Given the description of an element on the screen output the (x, y) to click on. 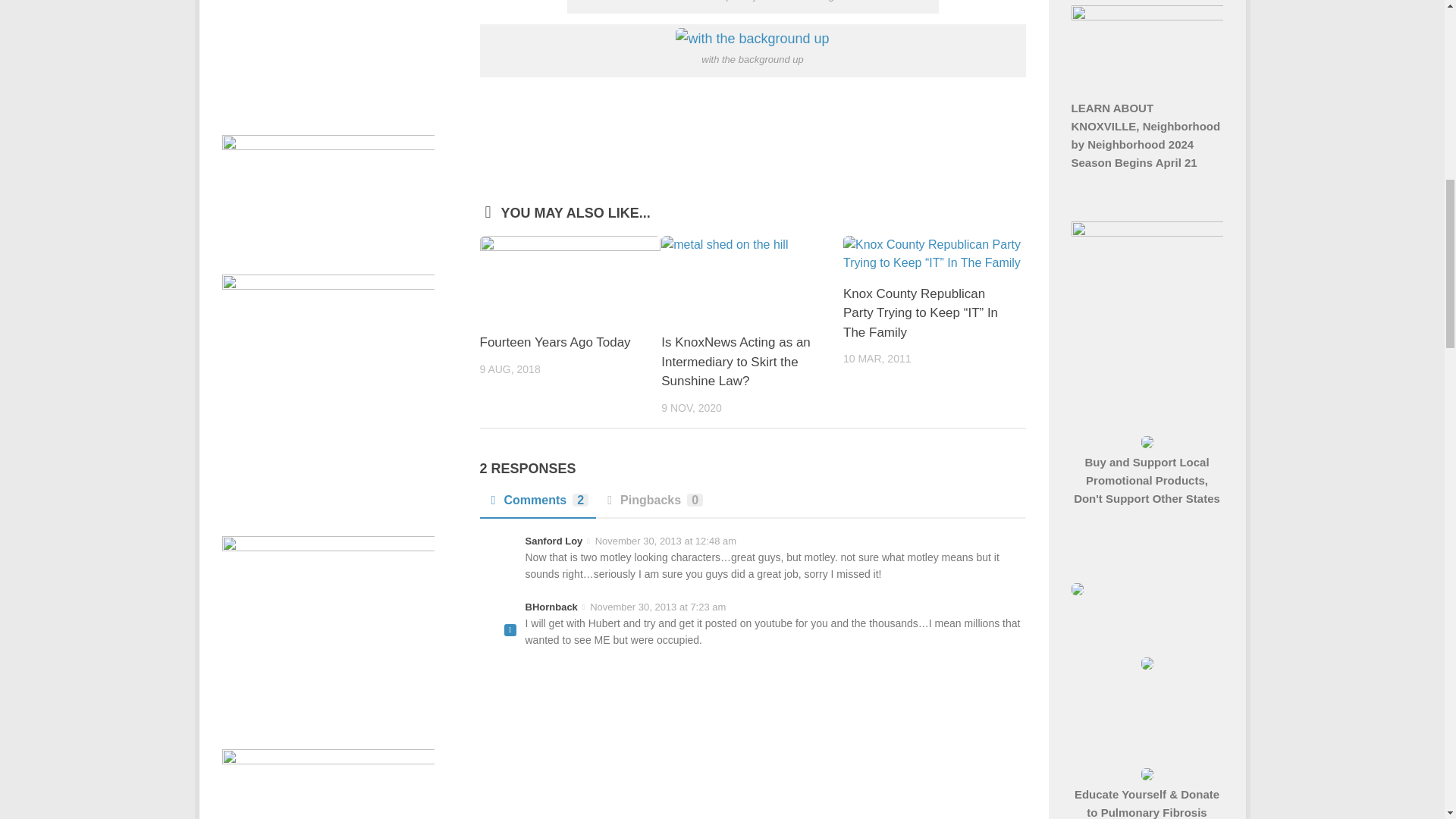
Fourteen Years Ago Today (570, 278)
Fourteen Years Ago Today (554, 341)
Pingbacks0 (652, 504)
Comments2 (537, 504)
Fourteen Years Ago Today (554, 341)
November 30, 2013 at 12:48 am (665, 541)
November 30, 2013 at 7:23 am (657, 606)
